Given the description of an element on the screen output the (x, y) to click on. 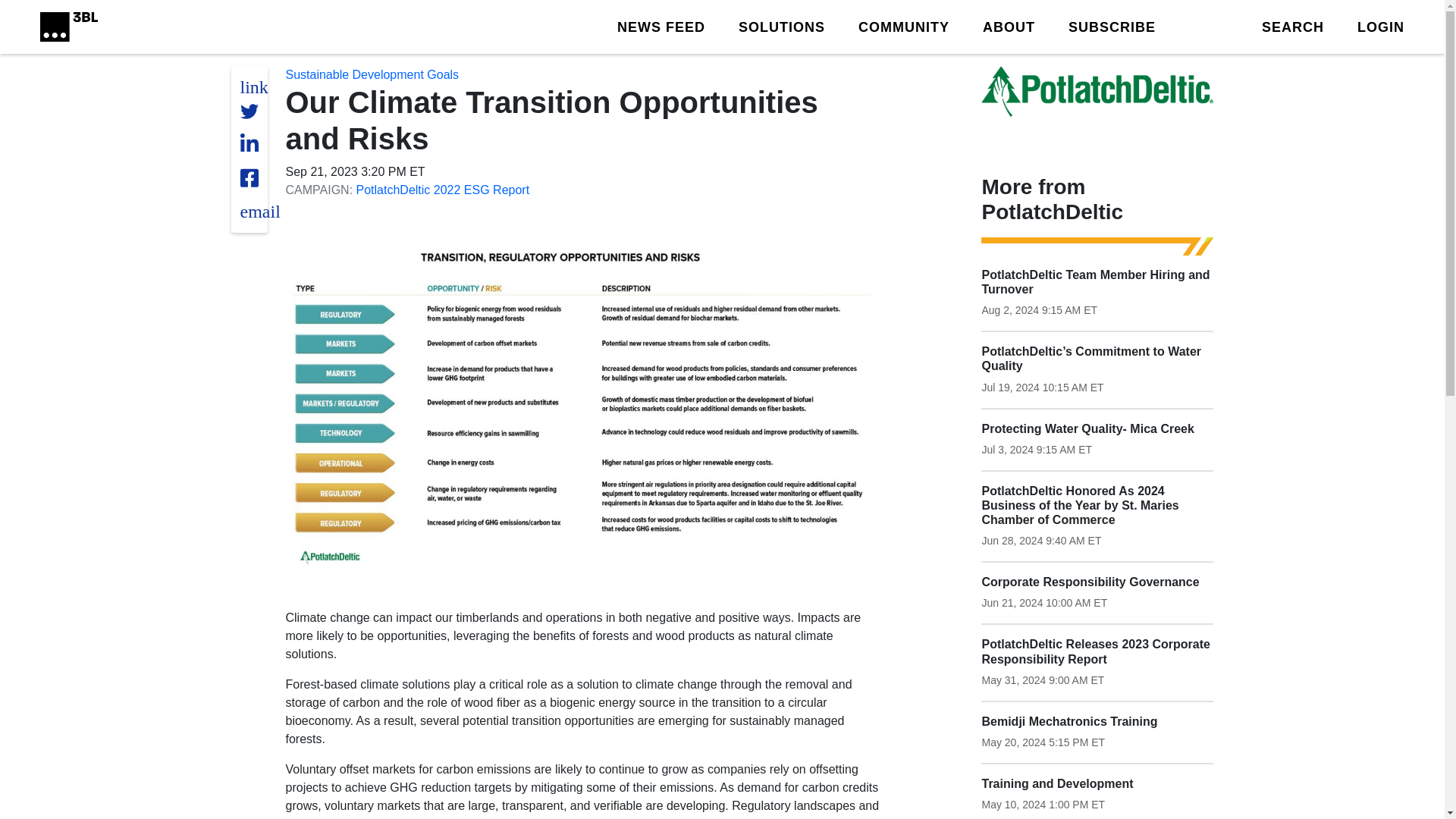
SOLUTIONS (781, 26)
SUBSCRIBE (1112, 26)
link to 3 B L Media's Twitter (253, 87)
NEWS FEED (660, 26)
ABOUT (1008, 26)
Share via email (259, 211)
COMMUNITY (904, 26)
